Given the description of an element on the screen output the (x, y) to click on. 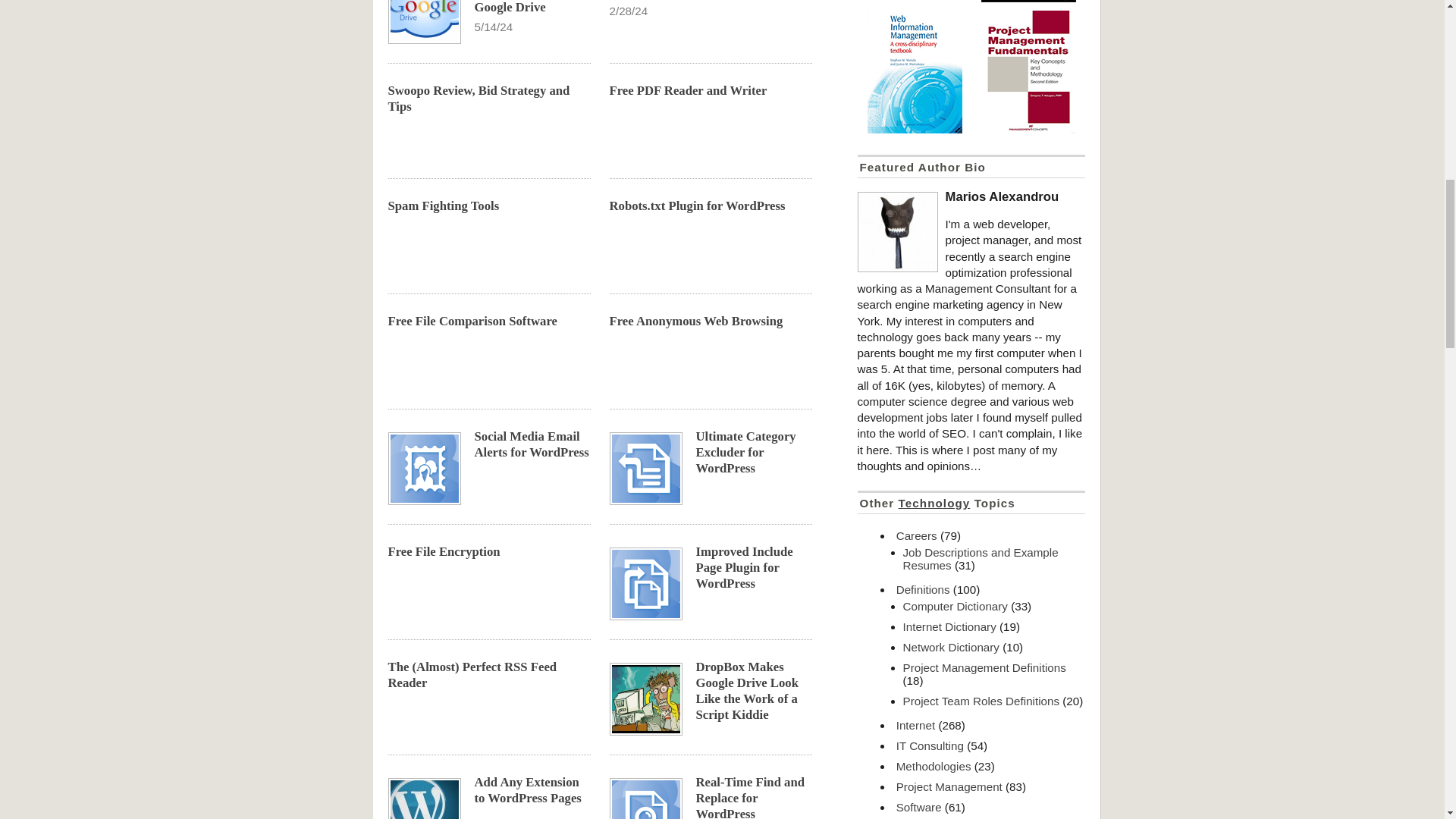
Social Media Email Alerts for WordPress (531, 444)
Free File Comparison Software (472, 320)
Swoopo Review, Bid Strategy and Tips (479, 98)
Free PDF Reader and Writer (688, 90)
Free Anonymous Web Browsing (696, 320)
The Real-World Guide to Using Google Drive (518, 7)
Robots.txt Plugin for WordPress (698, 205)
Spam Fighting Tools (443, 205)
